Given the description of an element on the screen output the (x, y) to click on. 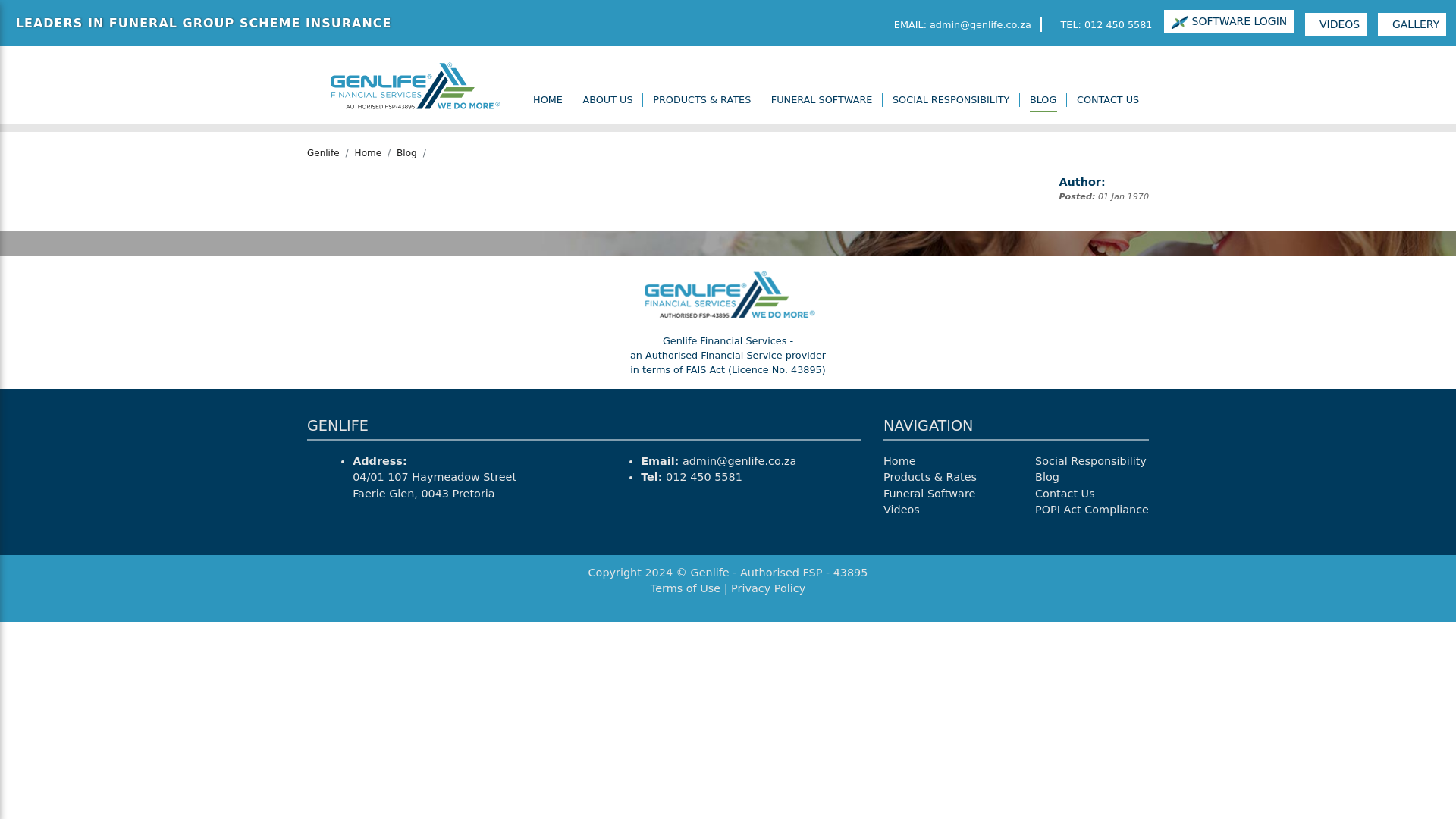
Blog (1047, 476)
About Us (608, 99)
Social Responsibility (951, 99)
HOME (547, 99)
FUNERAL SOFTWARE (821, 99)
Email (958, 24)
SOCIAL RESPONSIBILITY (951, 99)
Home (547, 99)
Funeral Software (929, 493)
Blog (406, 153)
